Given the description of an element on the screen output the (x, y) to click on. 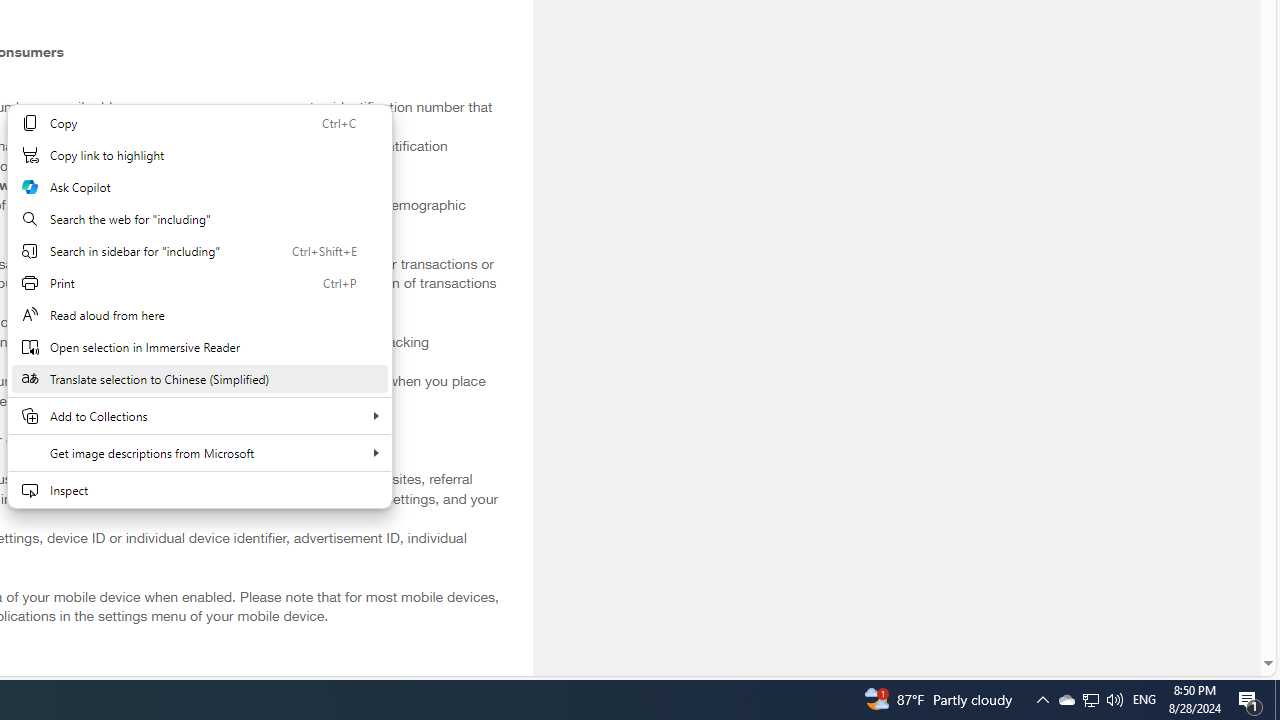
Ask Copilot (199, 187)
Search the web for "including" (199, 218)
Copy link to highlight (199, 154)
Get image descriptions from Microsoft (199, 452)
Copy (199, 122)
Inspect (199, 489)
Add to Collections (199, 416)
Read aloud from here (199, 314)
Print (199, 282)
Open selection in Immersive Reader (199, 346)
Search in sidebar for "including" (199, 250)
Translate selection to Chinese (Simplified) (199, 378)
Web context (199, 306)
